Given the description of an element on the screen output the (x, y) to click on. 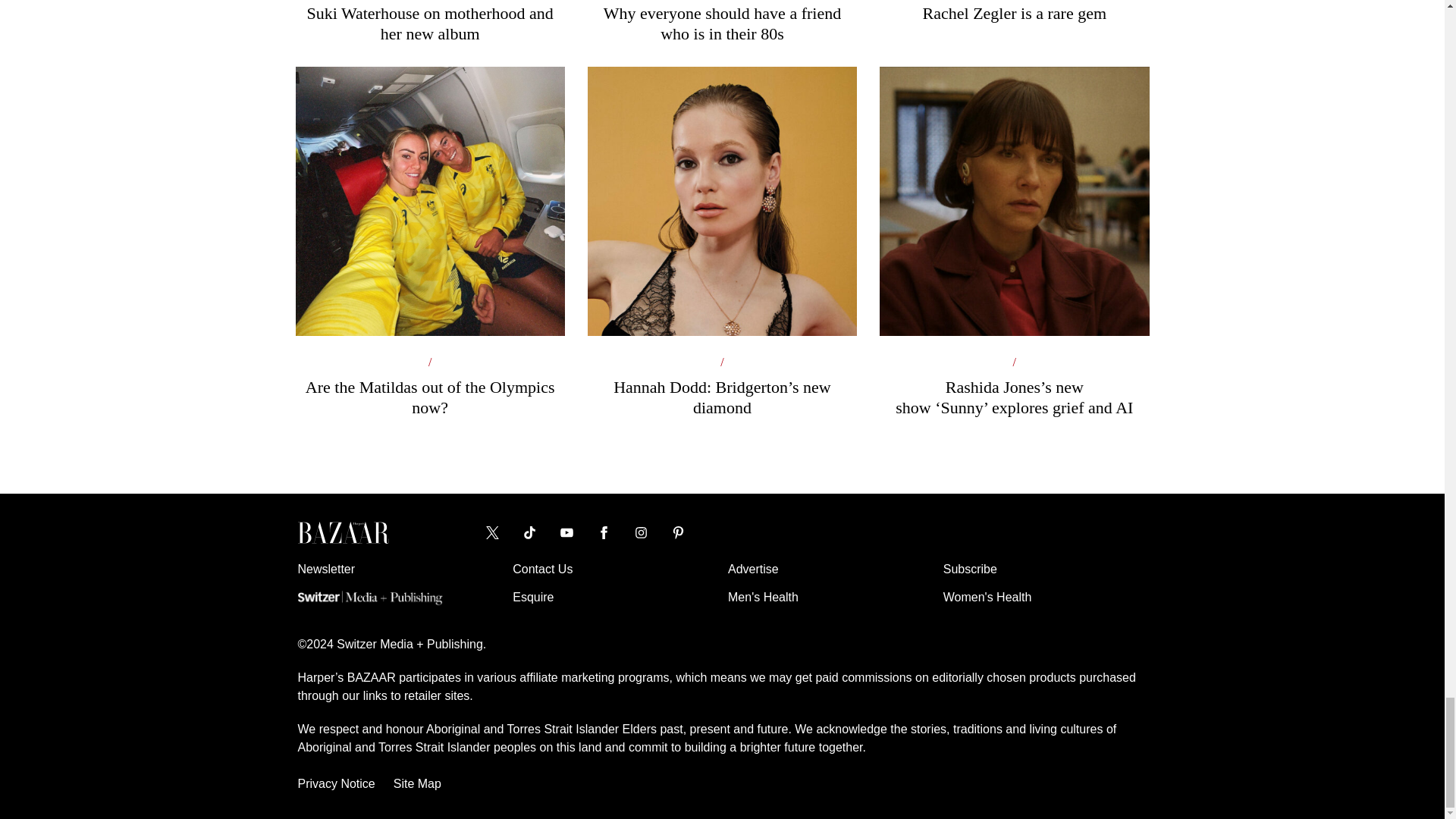
Suki Waterhouse on motherhood and her new album (429, 22)
Why everyone should have a friend who is in their 80s (722, 22)
Why everyone should have a friend who is in their 80s (722, 22)
Suki Waterhouse on motherhood and her new album (429, 22)
Rachel Zegler is a rare gem (1013, 11)
Are the Matildas out of the Olympics now? (429, 305)
Rachel Zegler is a rare gem (1013, 11)
